Given the description of an element on the screen output the (x, y) to click on. 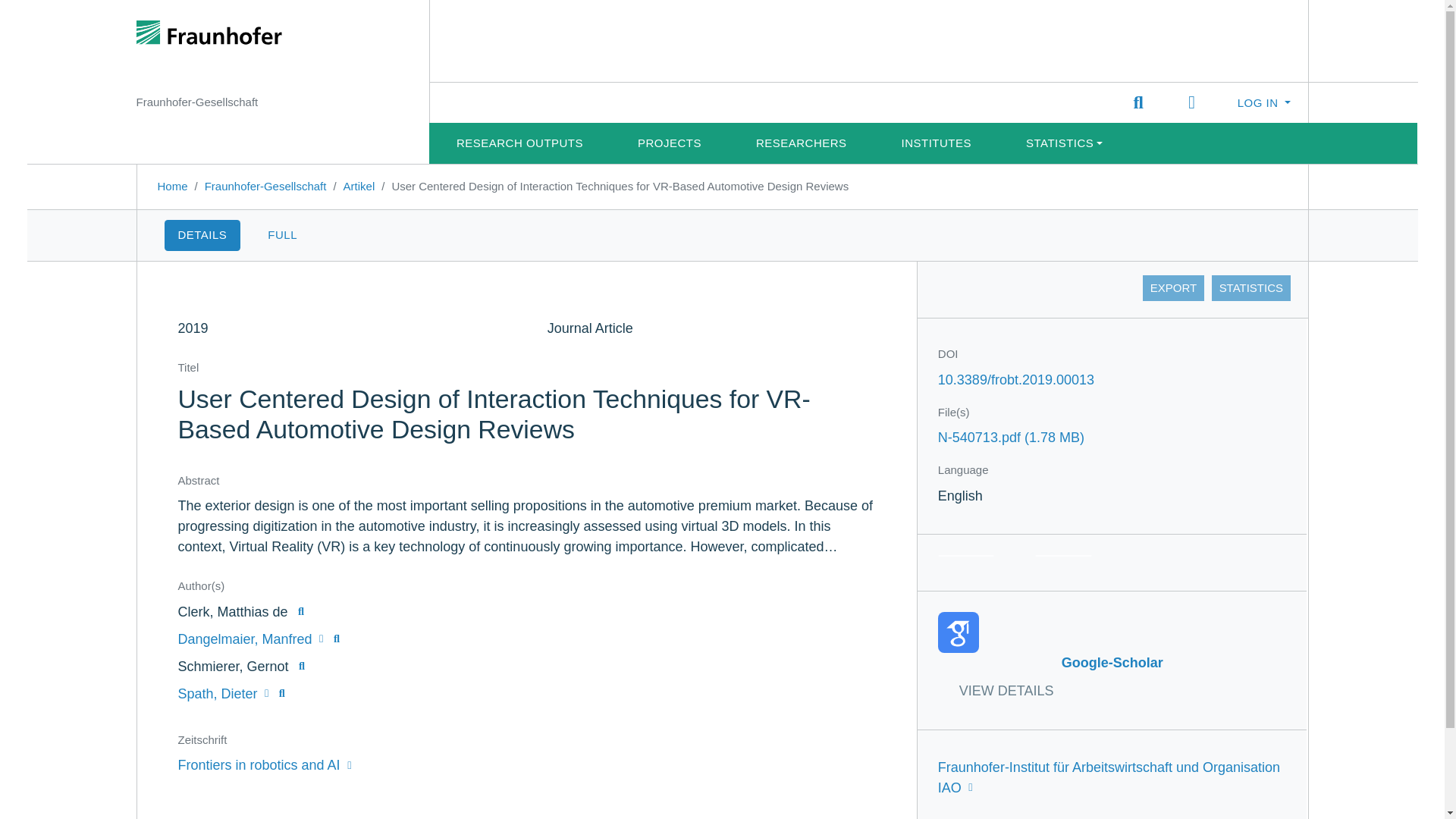
Artikel (1112, 653)
Search (359, 185)
Research Outputs (1138, 102)
Projects (519, 142)
Researchers (669, 142)
Fraunhofer-Gesellschaft (802, 142)
STATISTICS (265, 185)
Spath, Dieter (1250, 288)
PROJECTS (222, 693)
